Given the description of an element on the screen output the (x, y) to click on. 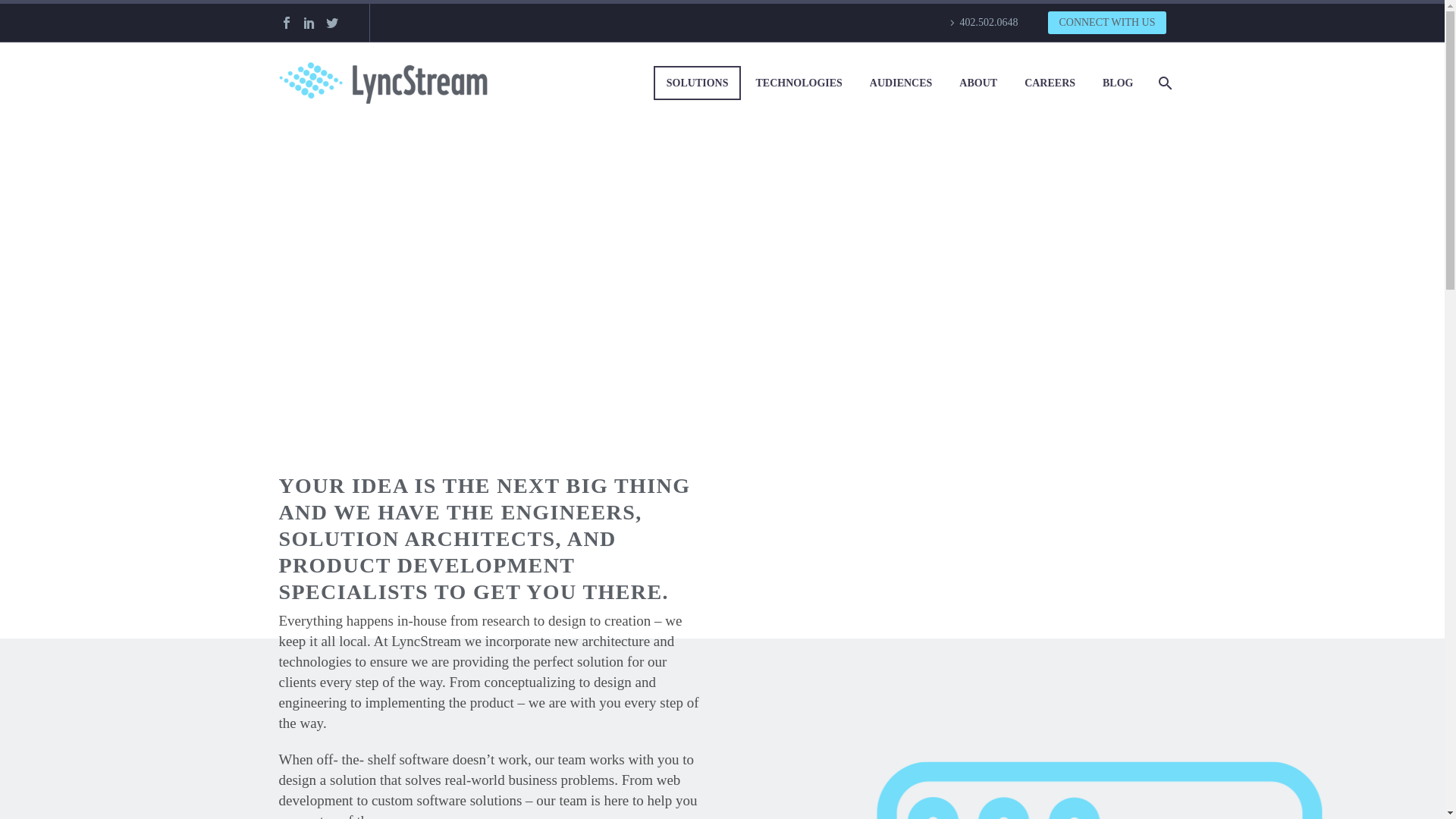
SOLUTIONS (697, 82)
linkedin (308, 22)
CONNECT WITH US (1107, 22)
AUDIENCES (901, 82)
twitter (331, 22)
CAREERS (1049, 82)
ABOUT (978, 82)
BLOG (1117, 82)
facebook (286, 22)
TECHNOLOGIES (798, 82)
402.502.0648 (980, 22)
